Given the description of an element on the screen output the (x, y) to click on. 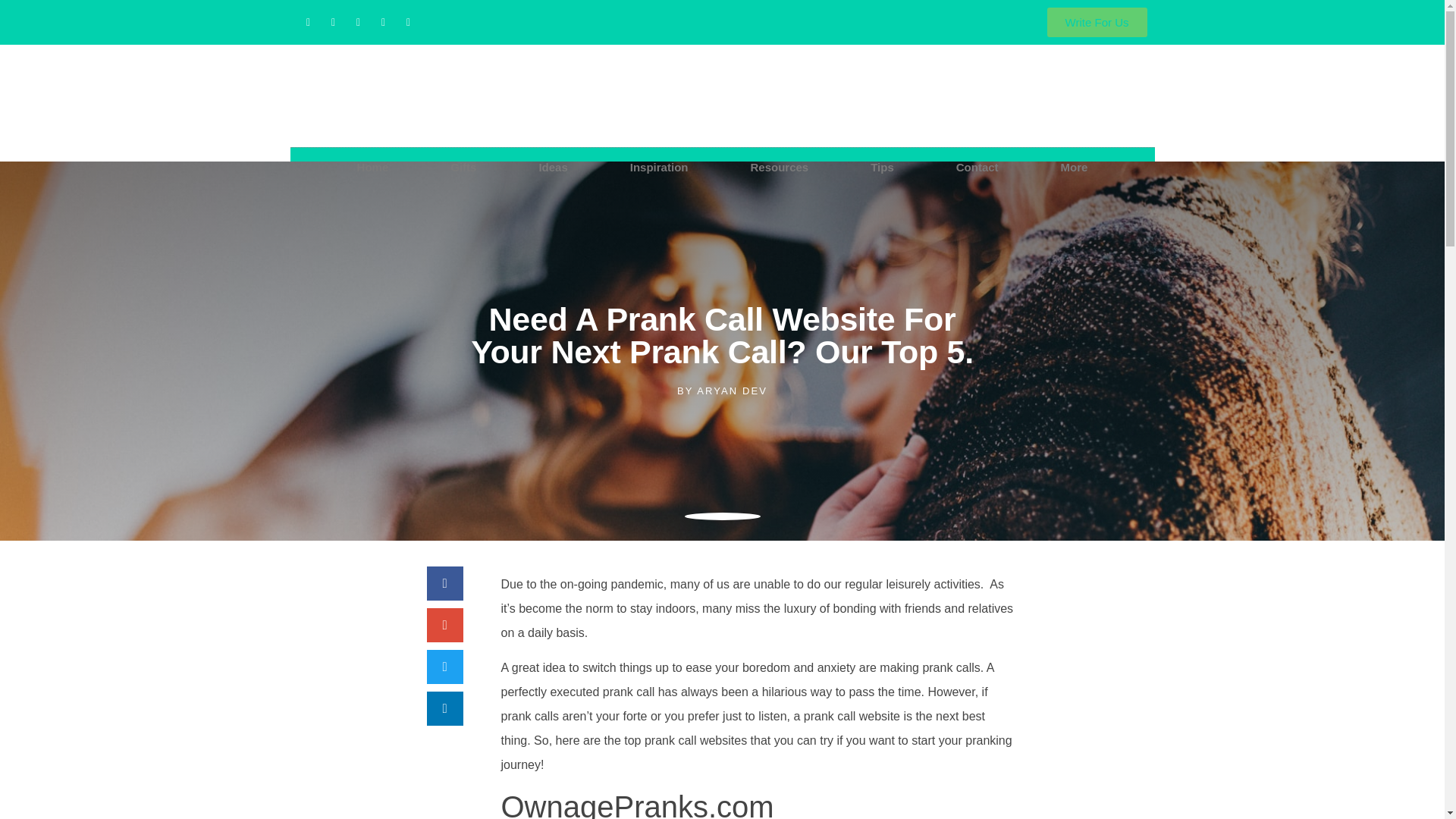
Resources (779, 167)
More (1074, 167)
Home (373, 167)
Write For Us (1096, 21)
Gifts (462, 167)
Inspiration (658, 167)
Tips (882, 167)
Contact (976, 167)
BY ARYAN DEV (722, 391)
Ideas (552, 167)
